Given the description of an element on the screen output the (x, y) to click on. 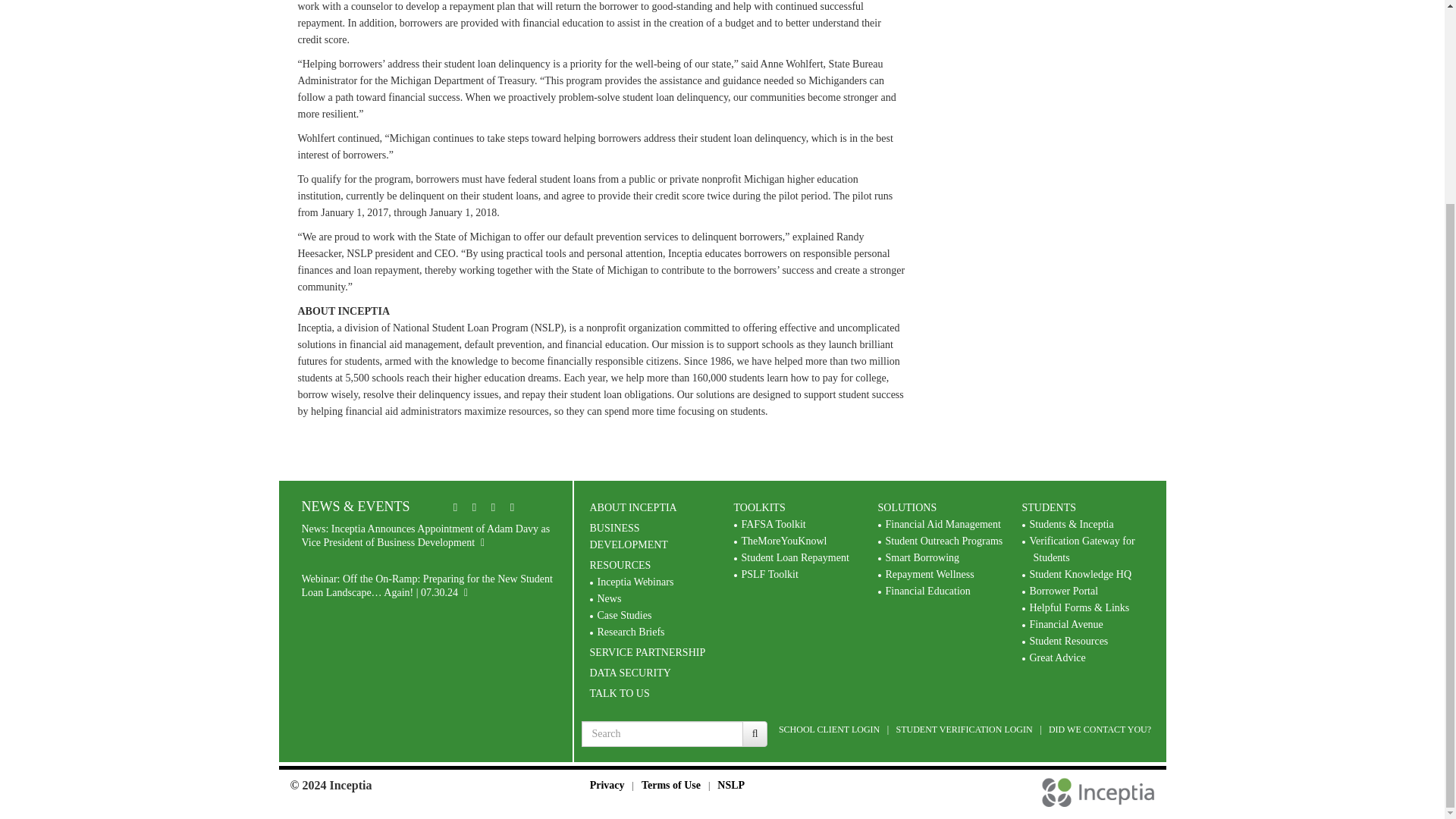
youtube (474, 507)
instagram (512, 507)
Search for: (661, 733)
facebook (492, 507)
linkedin (454, 507)
